Given the description of an element on the screen output the (x, y) to click on. 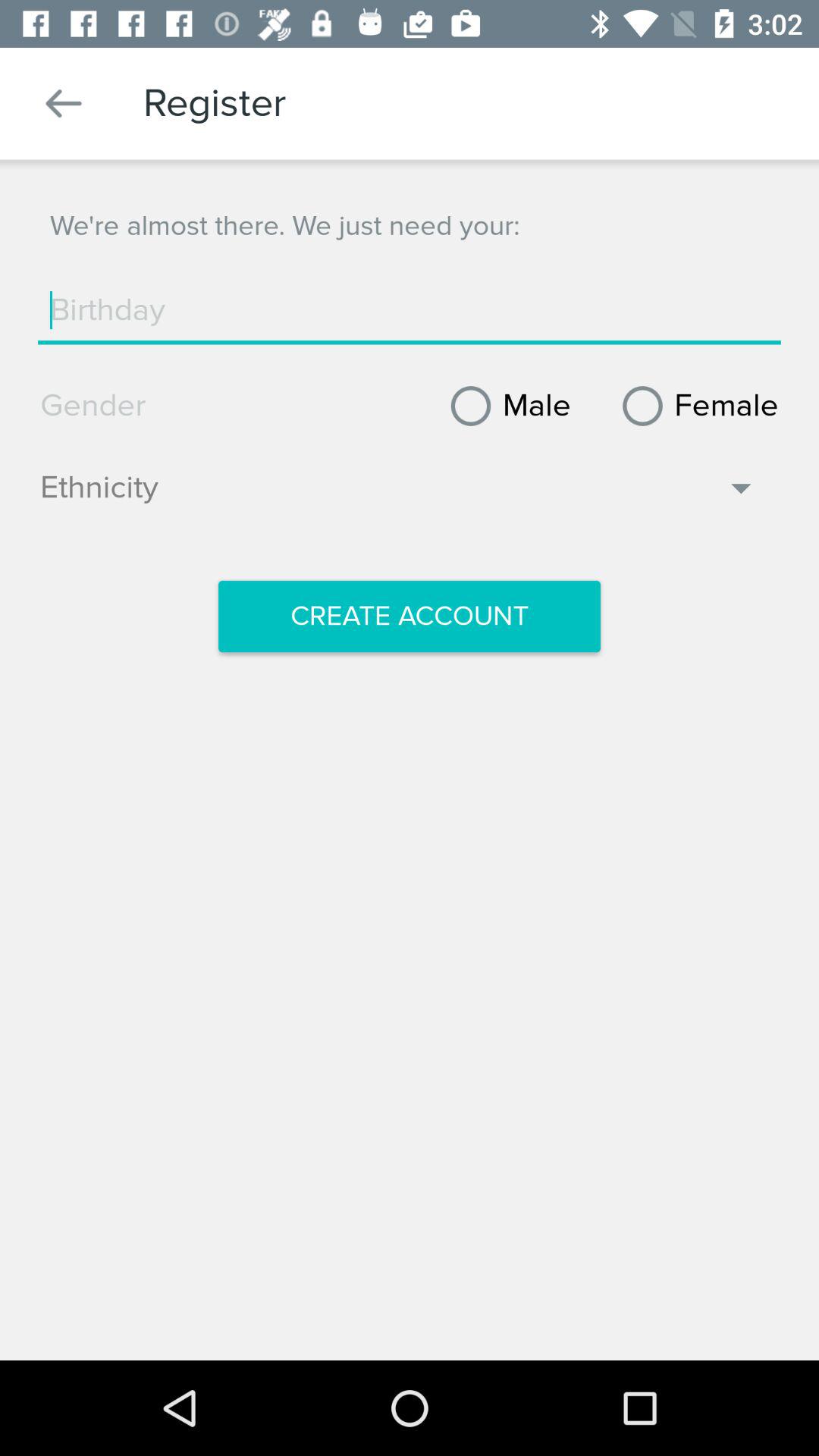
birthday (409, 310)
